Given the description of an element on the screen output the (x, y) to click on. 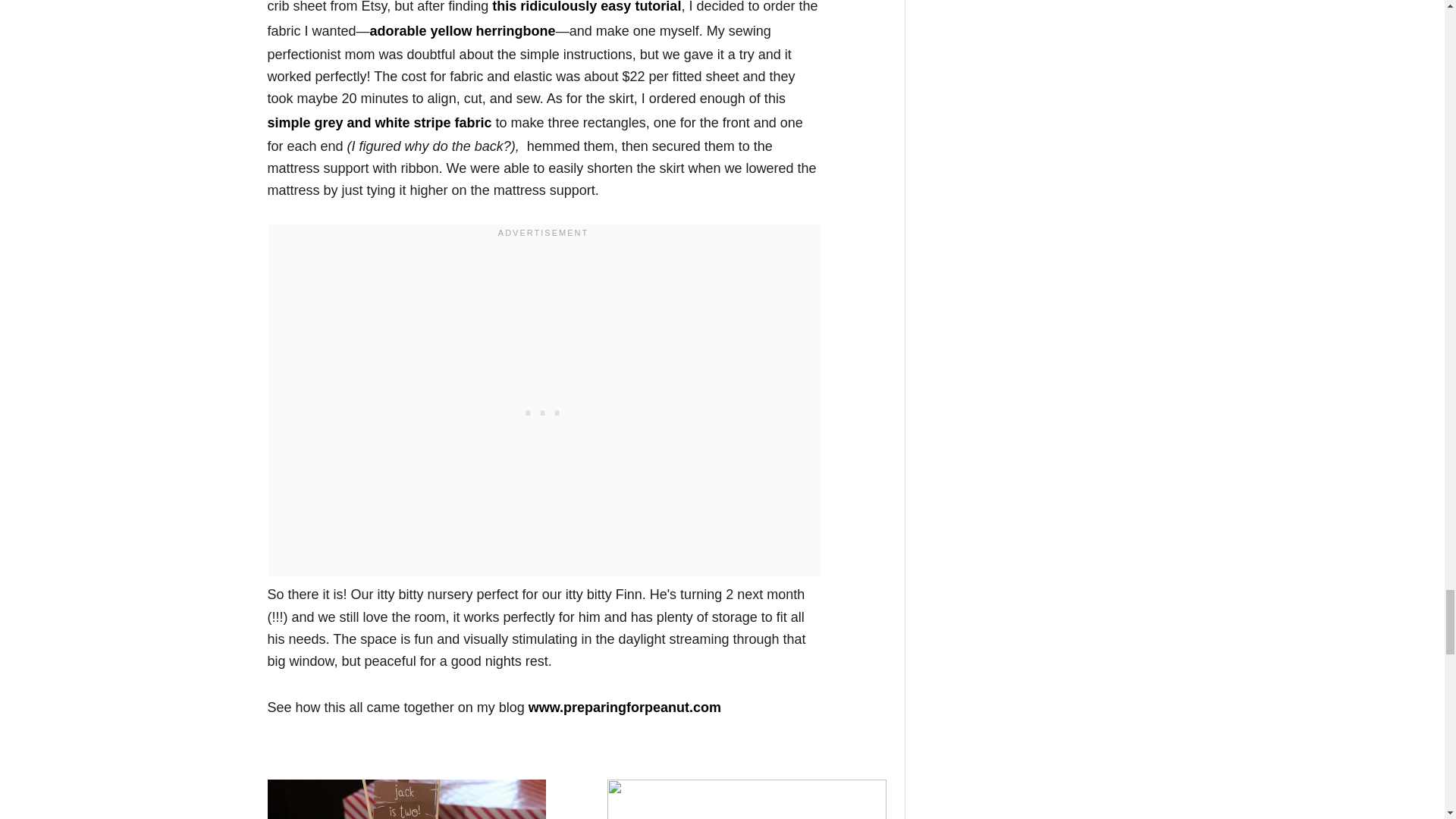
Fabric.com Grey and White Stripe  (379, 122)
Fabric.com Joel Dewberry Yellow Herringbone  (462, 30)
Imperfect Home Making - Fitted Sheet Tutorial (586, 6)
